Given the description of an element on the screen output the (x, y) to click on. 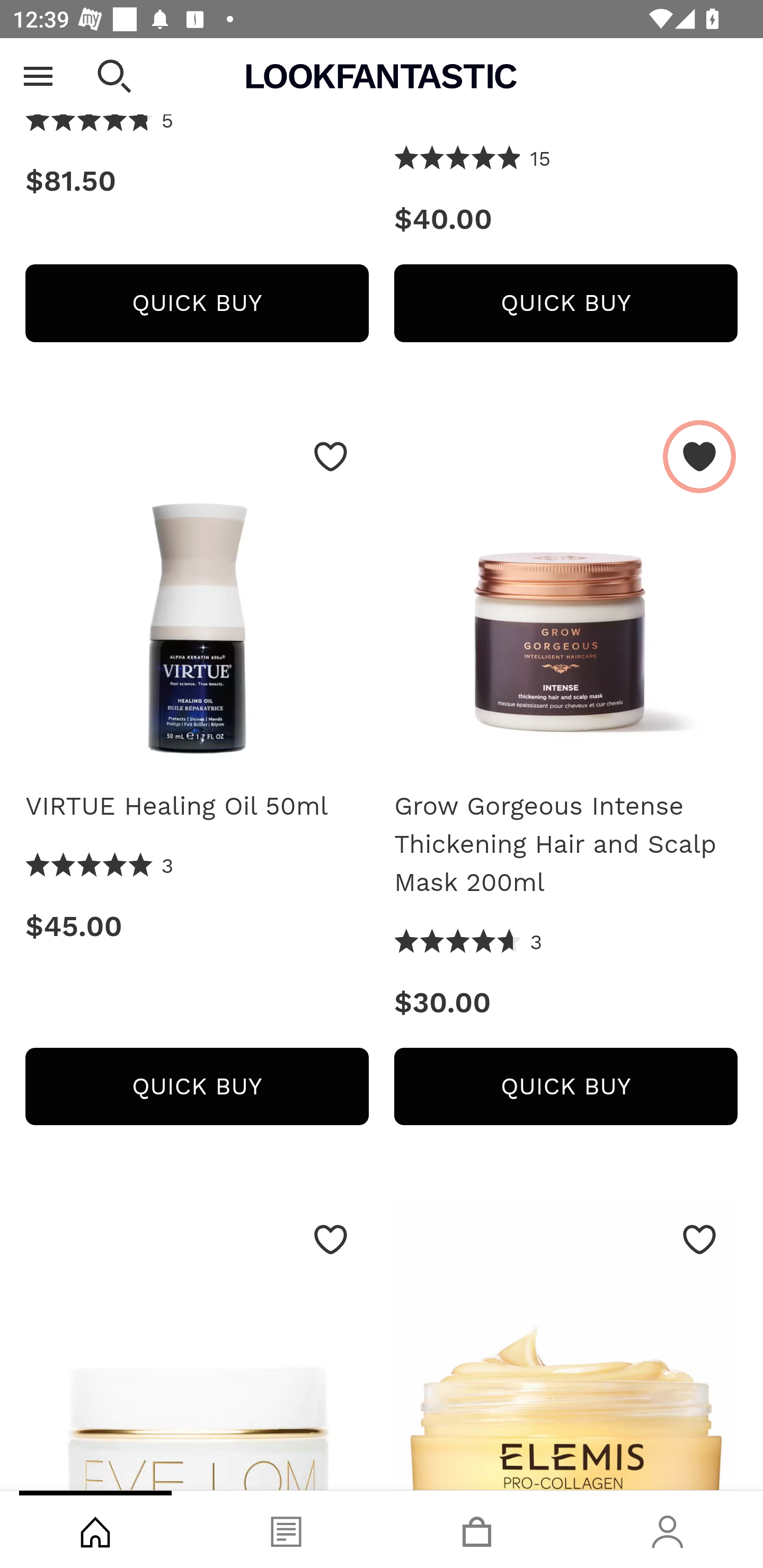
4.8 Stars 5 Reviews (99, 122)
4.93 Stars 15 Reviews (472, 161)
Price: $81.50 (196, 182)
Price: $40.00 (565, 220)
QUICK BUY MEDIK8 HYDR8 B5 INTENSE 30ML (196, 303)
VIRTUE Healing Oil 50ml (196, 597)
Save to Wishlist (330, 456)
Saved to Wishlist (698, 456)
VIRTUE Healing Oil 50ml (196, 806)
5.0 Stars 3 Reviews (99, 866)
Price: $45.00 (196, 927)
4.67 Stars 3 Reviews (468, 942)
Price: $30.00 (565, 1003)
QUICK BUY VIRTUE HEALING OIL 50ML (196, 1087)
Eve Lom Moisture Mask - 3.5oz (196, 1346)
Elemis Pro-Collagen Cleansing Balm 100g (565, 1346)
Save to Wishlist (330, 1240)
Save to Wishlist (698, 1240)
Shop, tab, 1 of 4 (95, 1529)
Blog, tab, 2 of 4 (285, 1529)
Basket, tab, 3 of 4 (476, 1529)
Account, tab, 4 of 4 (667, 1529)
